Given the description of an element on the screen output the (x, y) to click on. 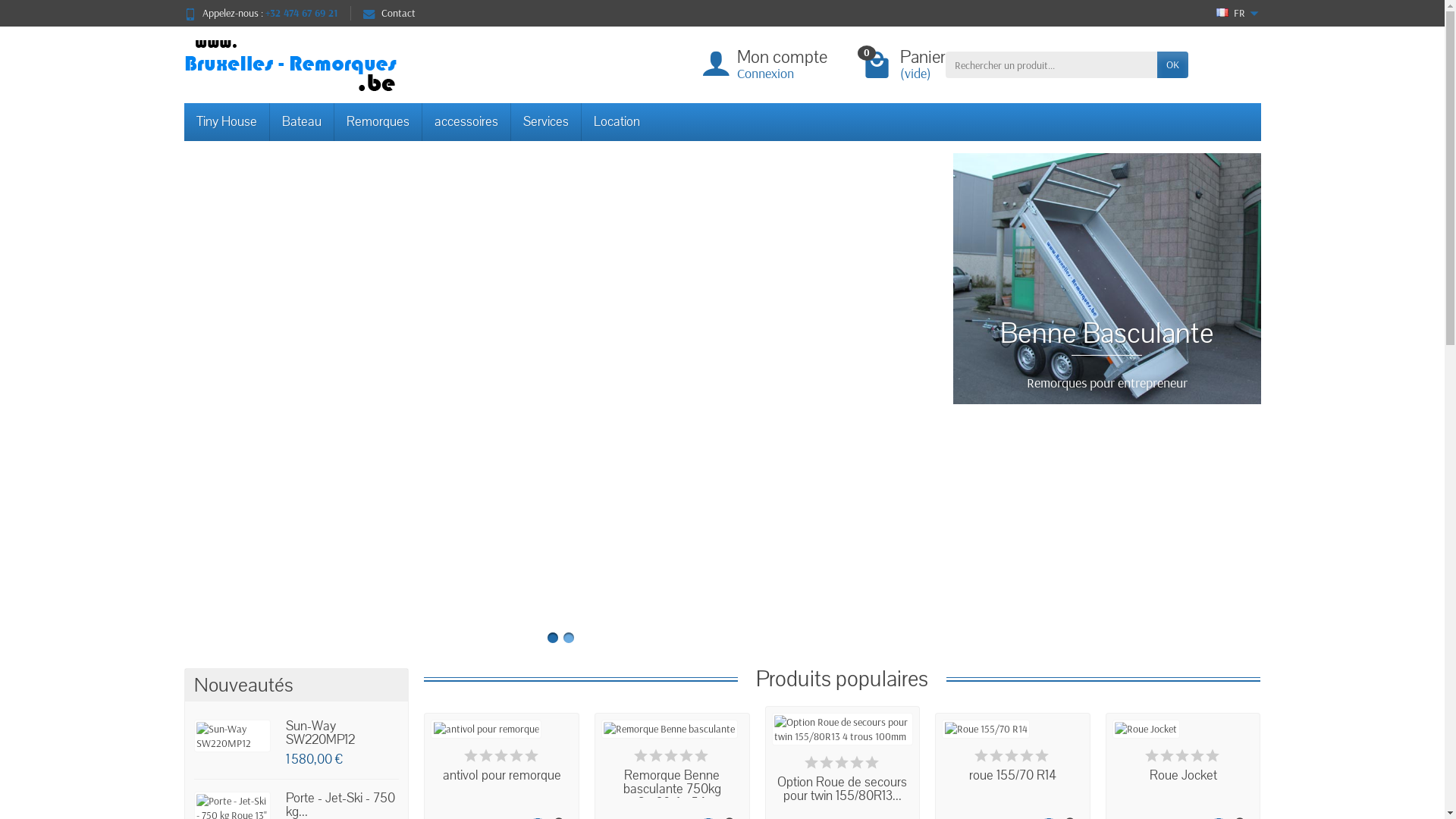
Remorques Element type: text (377, 122)
OK Element type: text (1172, 64)
En savoir plus Element type: text (432, 479)
accessoires Element type: text (465, 122)
roue 155/70 R14 Element type: text (1012, 775)
Remorque Benne basculante 750kg 2m60x1m54 Element type: text (672, 788)
Location Element type: text (615, 122)
Services Element type: text (546, 122)
Roue Jocket Element type: text (1183, 775)
Bateau Element type: text (301, 122)
Sun-Way SW220MP12 Element type: text (319, 732)
Tiny House Element type: text (226, 122)
Benne Basculante
Remorques pour entrepreneur Element type: text (1106, 278)
Option Roue de secours pour twin 155/80R13... Element type: text (841, 788)
antivol pour remorque Element type: text (501, 775)
